Given the description of an element on the screen output the (x, y) to click on. 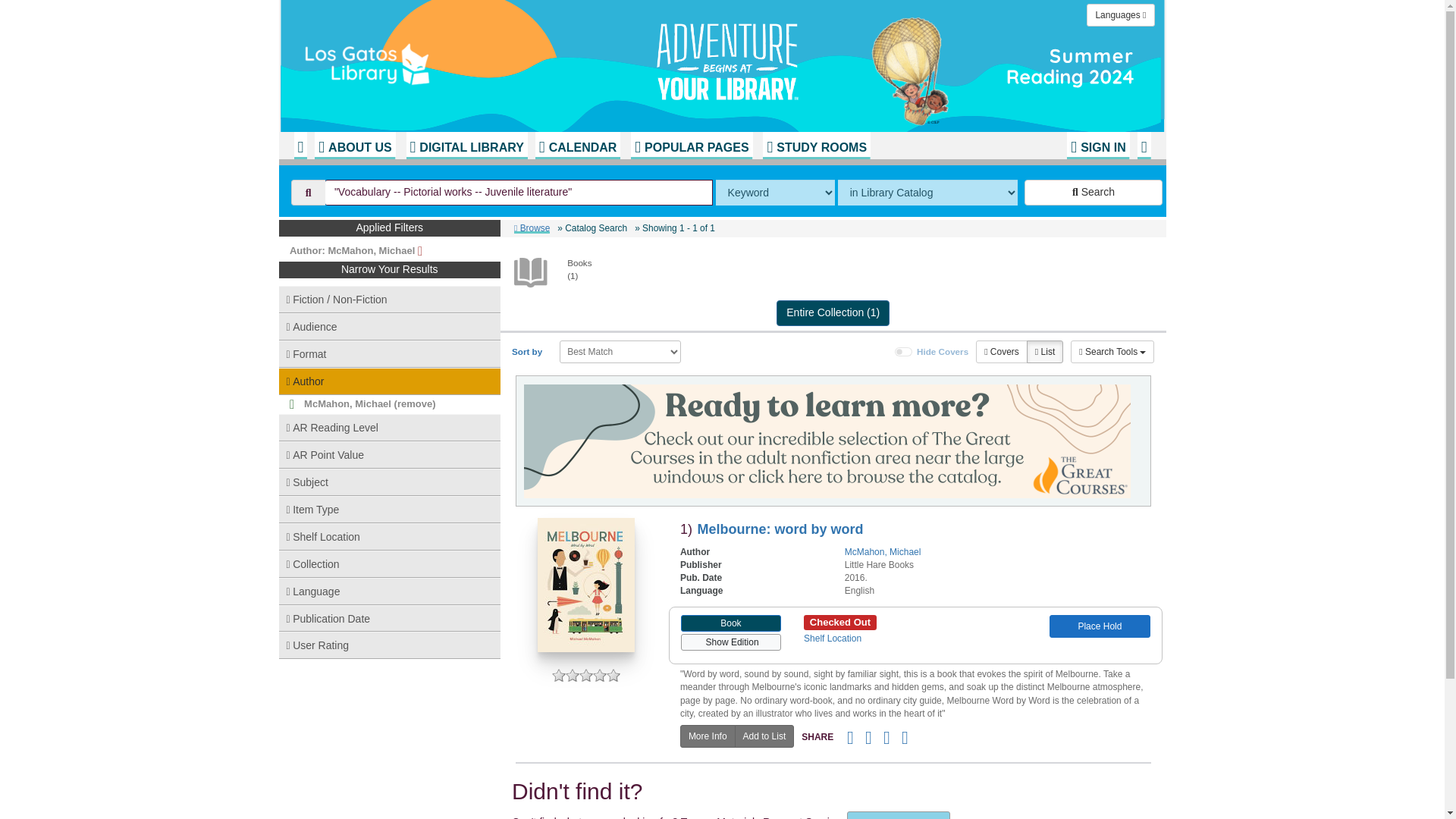
CALENDAR (578, 144)
 Search (1093, 192)
POPULAR PAGES (691, 144)
SIGN IN (1098, 144)
STUDY ROOMS (816, 144)
Library Home Page (483, 60)
Languages  (1120, 15)
"Vocabulary -- Pictorial works -- Juvenile literature" (518, 192)
DIGITAL LIBRARY (466, 144)
on (903, 351)
